Given the description of an element on the screen output the (x, y) to click on. 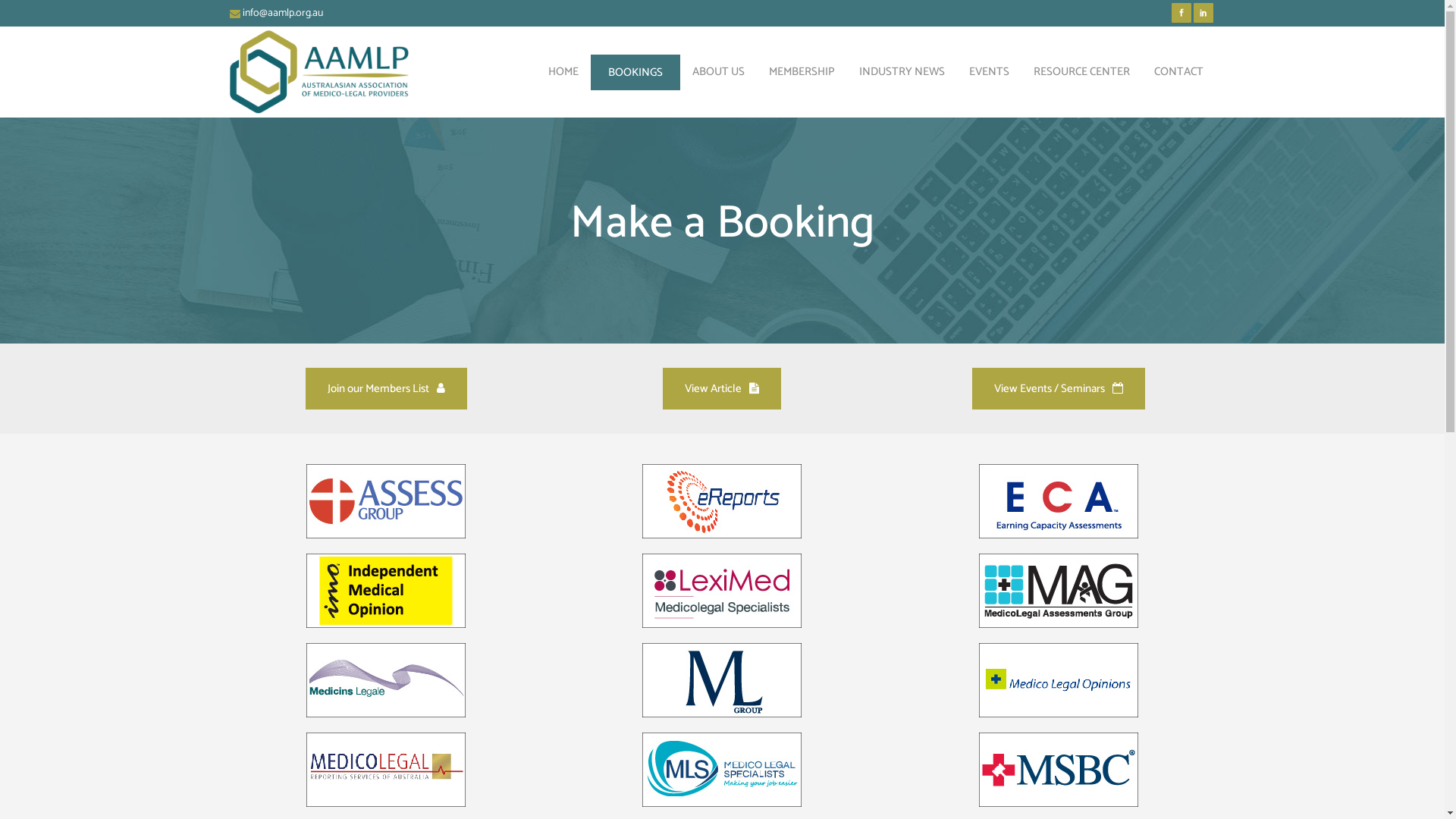
Join our Members List Element type: text (386, 388)
ABOUT US Element type: text (717, 71)
BOOKINGS Element type: text (634, 71)
View Events / Seminars Element type: text (1058, 388)
HOME Element type: text (562, 71)
CONTACT Element type: text (1178, 71)
View Article Element type: text (721, 388)
EVENTS Element type: text (989, 71)
info@aamlp.org.au Element type: text (282, 12)
INDUSTRY NEWS Element type: text (901, 71)
MEMBERSHIP Element type: text (801, 71)
RESOURCE CENTER Element type: text (1080, 71)
